Given the description of an element on the screen output the (x, y) to click on. 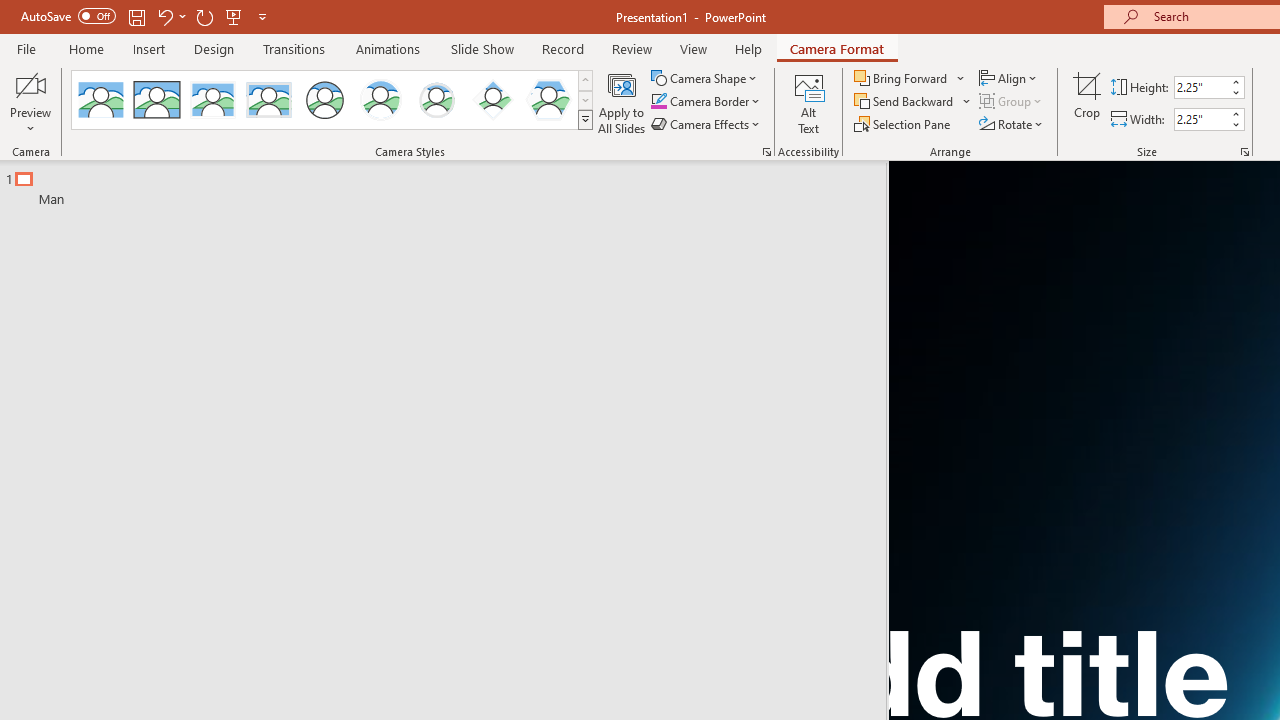
Selection Pane... (904, 124)
Bring Forward (902, 78)
Camera Format (836, 48)
Size and Position... (1244, 151)
Center Shadow Diamond (492, 100)
Crop (1087, 102)
